Given the description of an element on the screen output the (x, y) to click on. 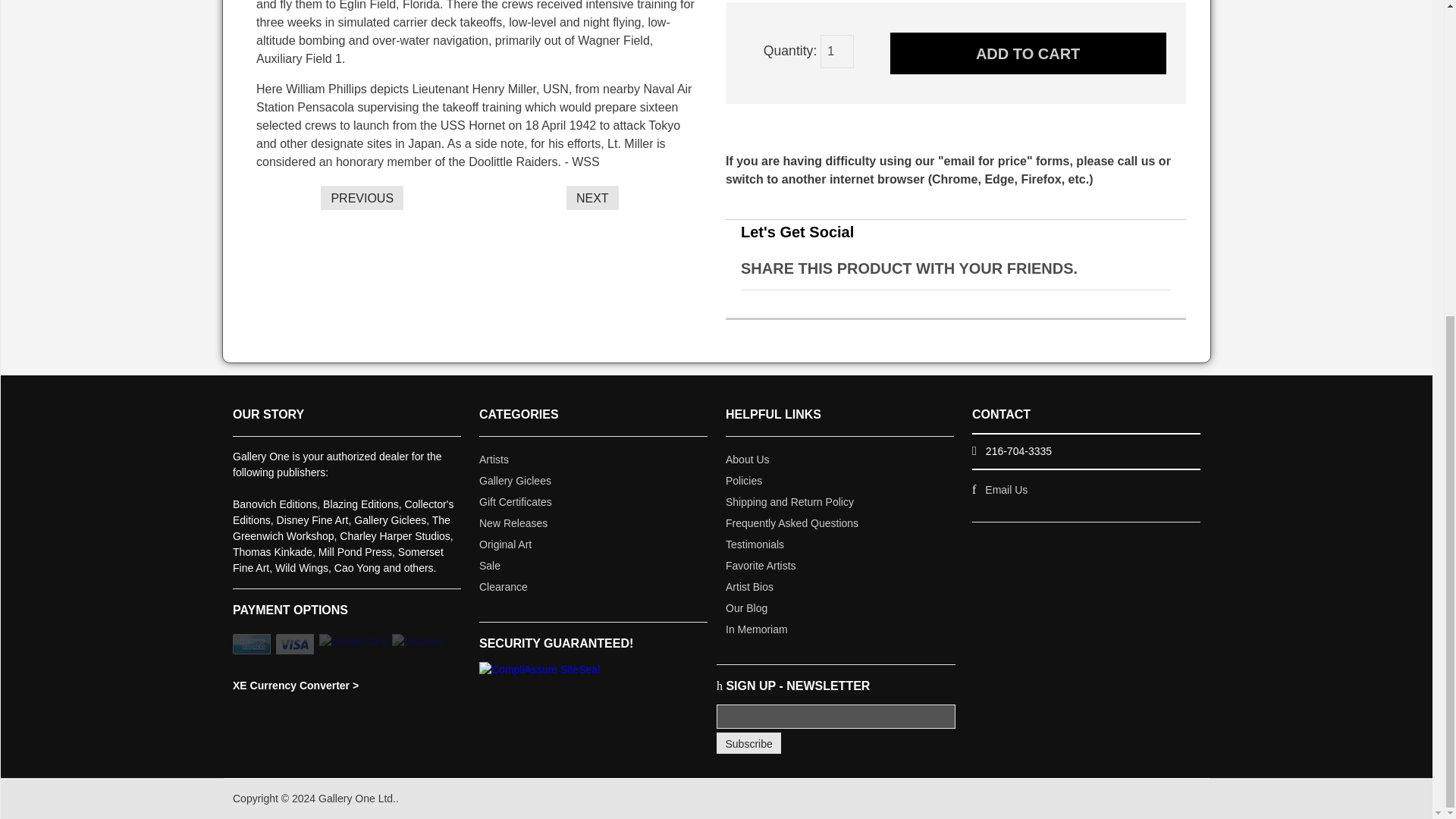
MasterCard (352, 641)
American Express (251, 643)
Add to Cart (1027, 53)
NEXT (592, 197)
1 (837, 51)
PREVIOUS (361, 197)
Discover (418, 641)
Visa (295, 643)
